Given the description of an element on the screen output the (x, y) to click on. 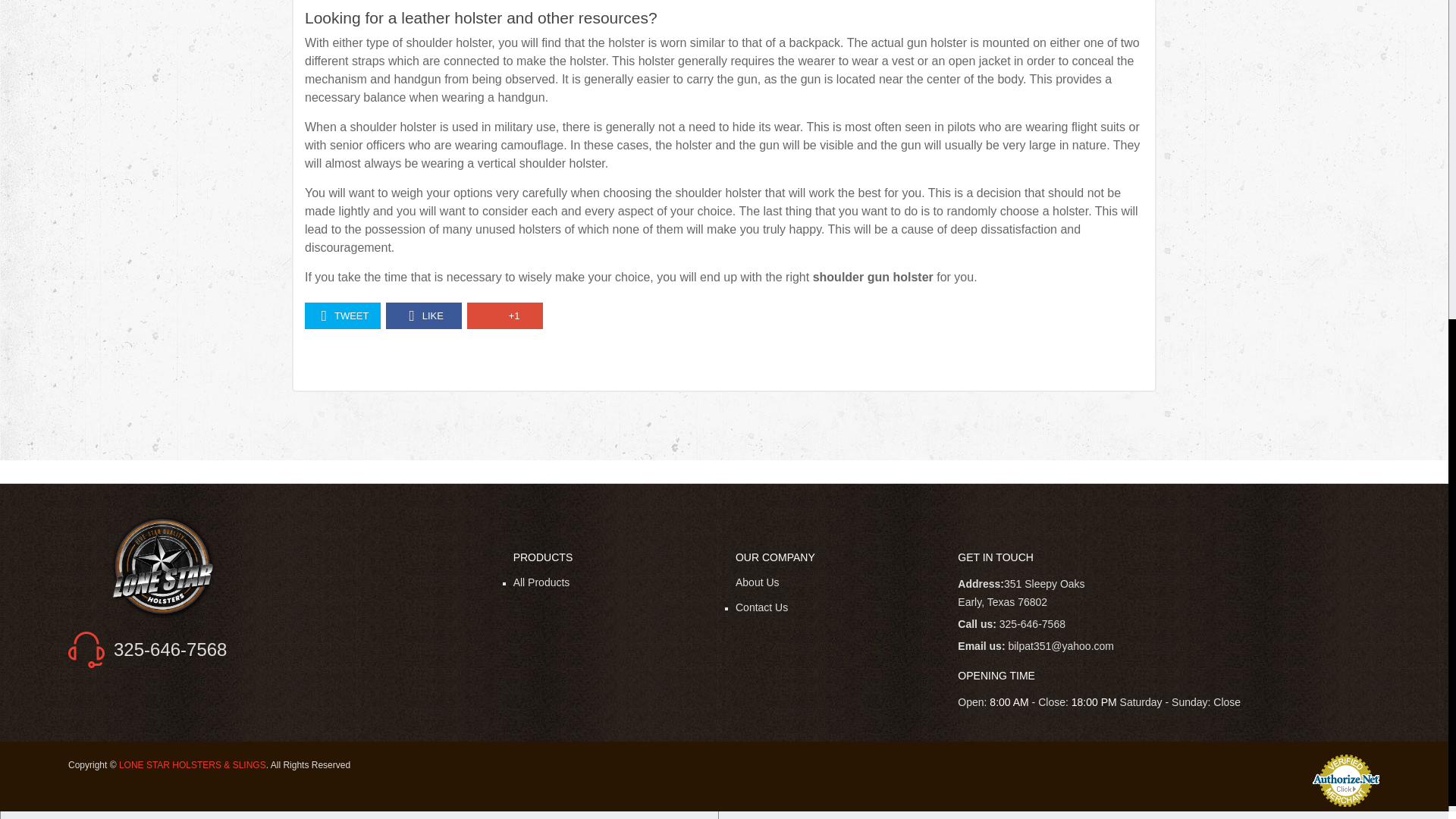
325-646-7568 (170, 649)
Contact Us (761, 607)
325-646-7568 (1031, 623)
TWEET (342, 315)
About Us (756, 581)
LIKE (423, 315)
All Products (541, 581)
